Given the description of an element on the screen output the (x, y) to click on. 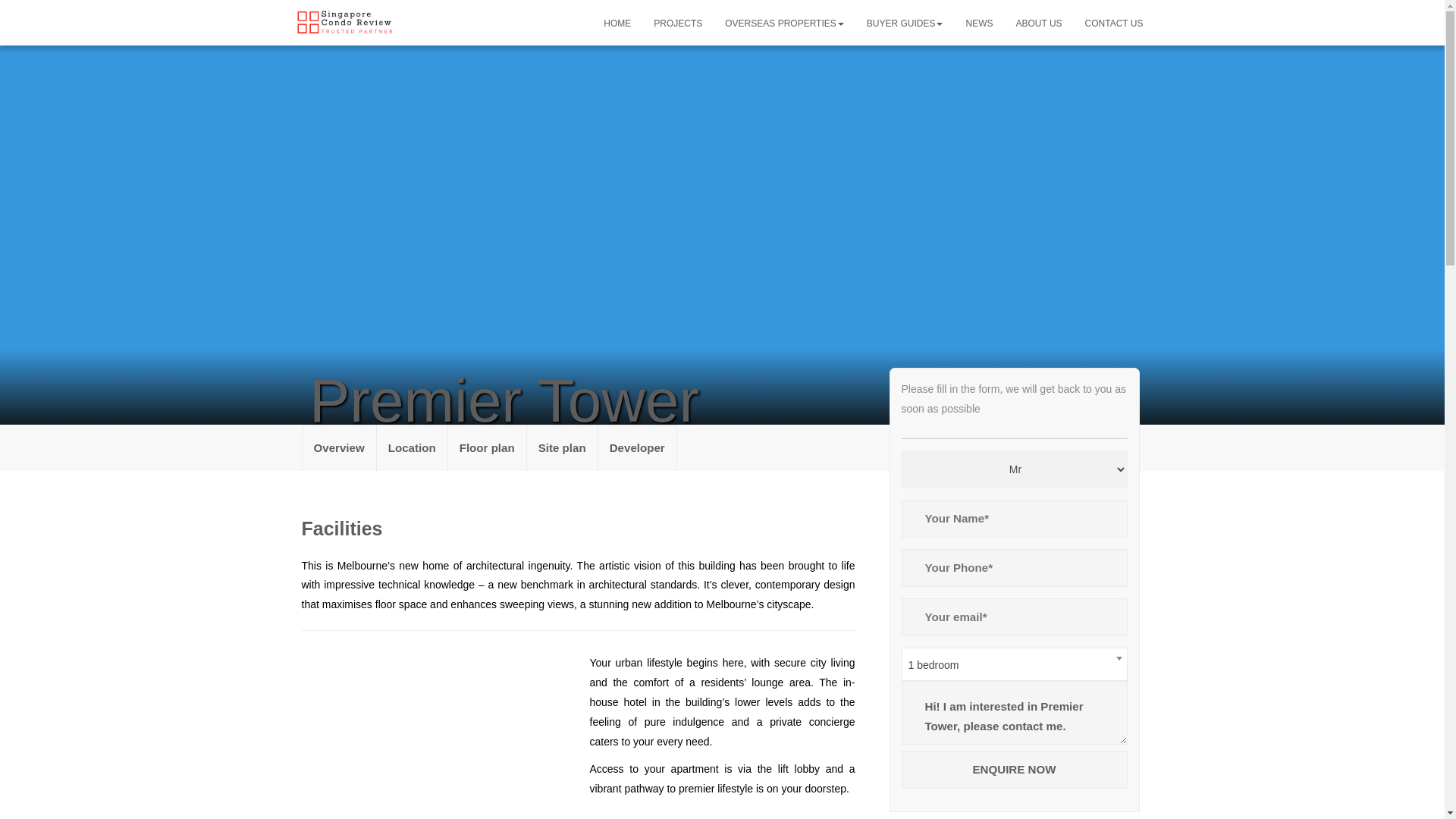
BUYER GUIDES (905, 22)
PROJECTS (677, 22)
OVERSEAS PROPERTIES (784, 22)
HOME (617, 22)
Overview (339, 447)
NEWS (978, 22)
ABOUT US (1038, 22)
ENQUIRE NOW (1013, 769)
CONTACT US (1114, 22)
